Given the description of an element on the screen output the (x, y) to click on. 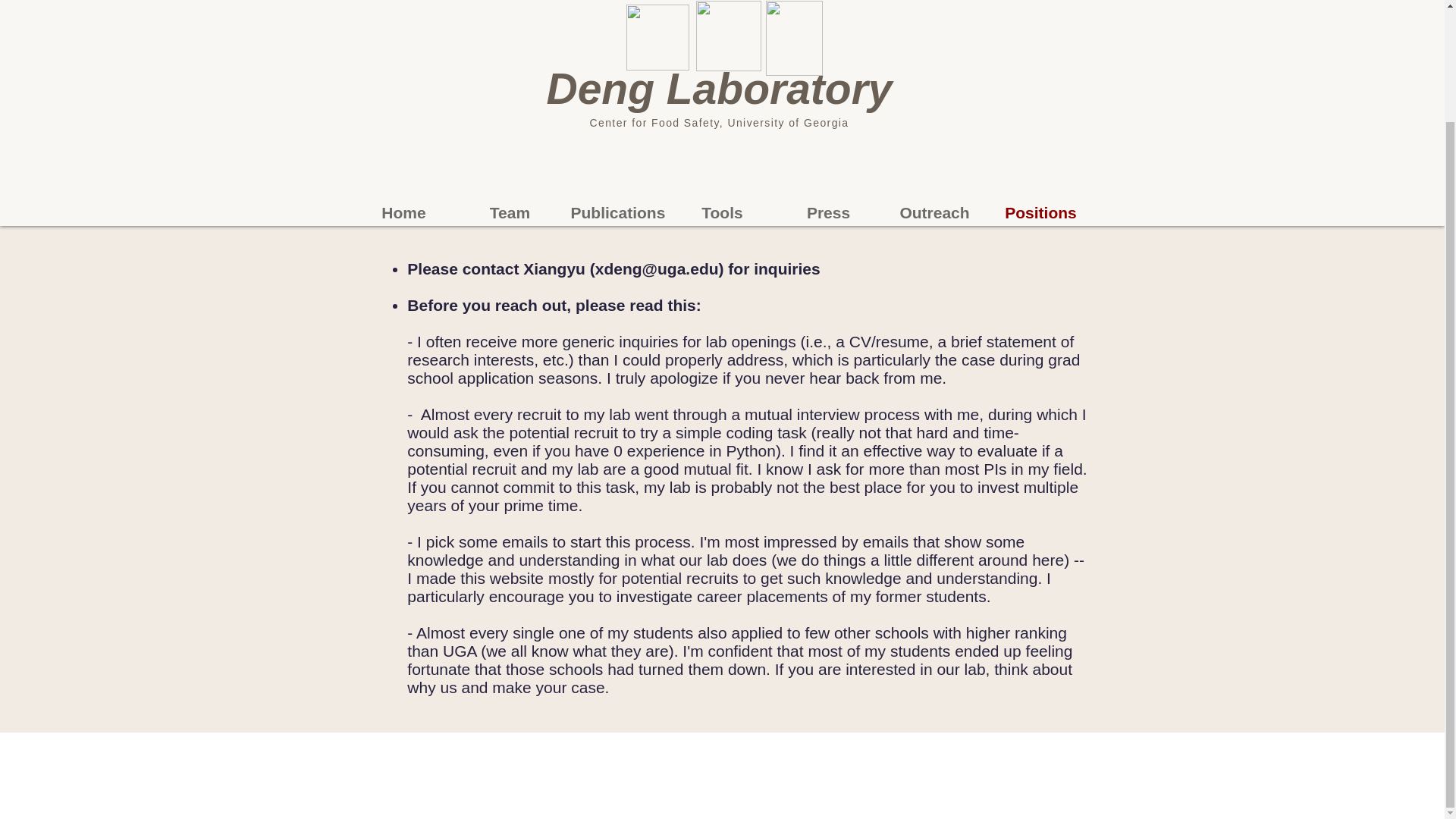
Home (403, 212)
Tools (721, 212)
Publications (615, 212)
Team (509, 212)
Outreach (933, 212)
Positions (1040, 212)
Press (827, 212)
Center for Food Safety, University of Georgia (718, 122)
